Given the description of an element on the screen output the (x, y) to click on. 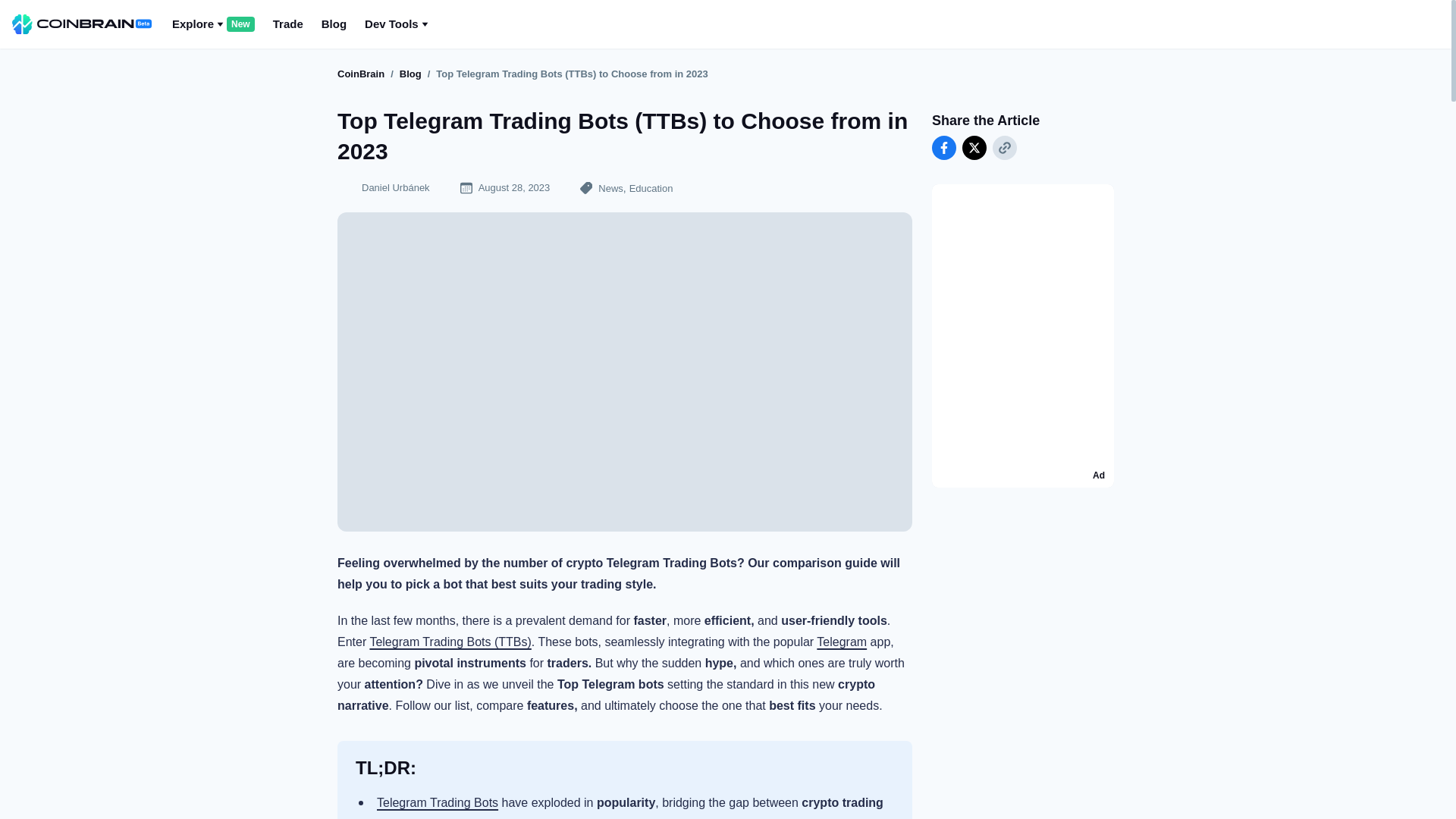
Copy URL to clipboard (212, 24)
Dev Tools (1004, 147)
CoinBrain (396, 24)
X (360, 73)
Facebook (974, 147)
Blog (943, 147)
